Given the description of an element on the screen output the (x, y) to click on. 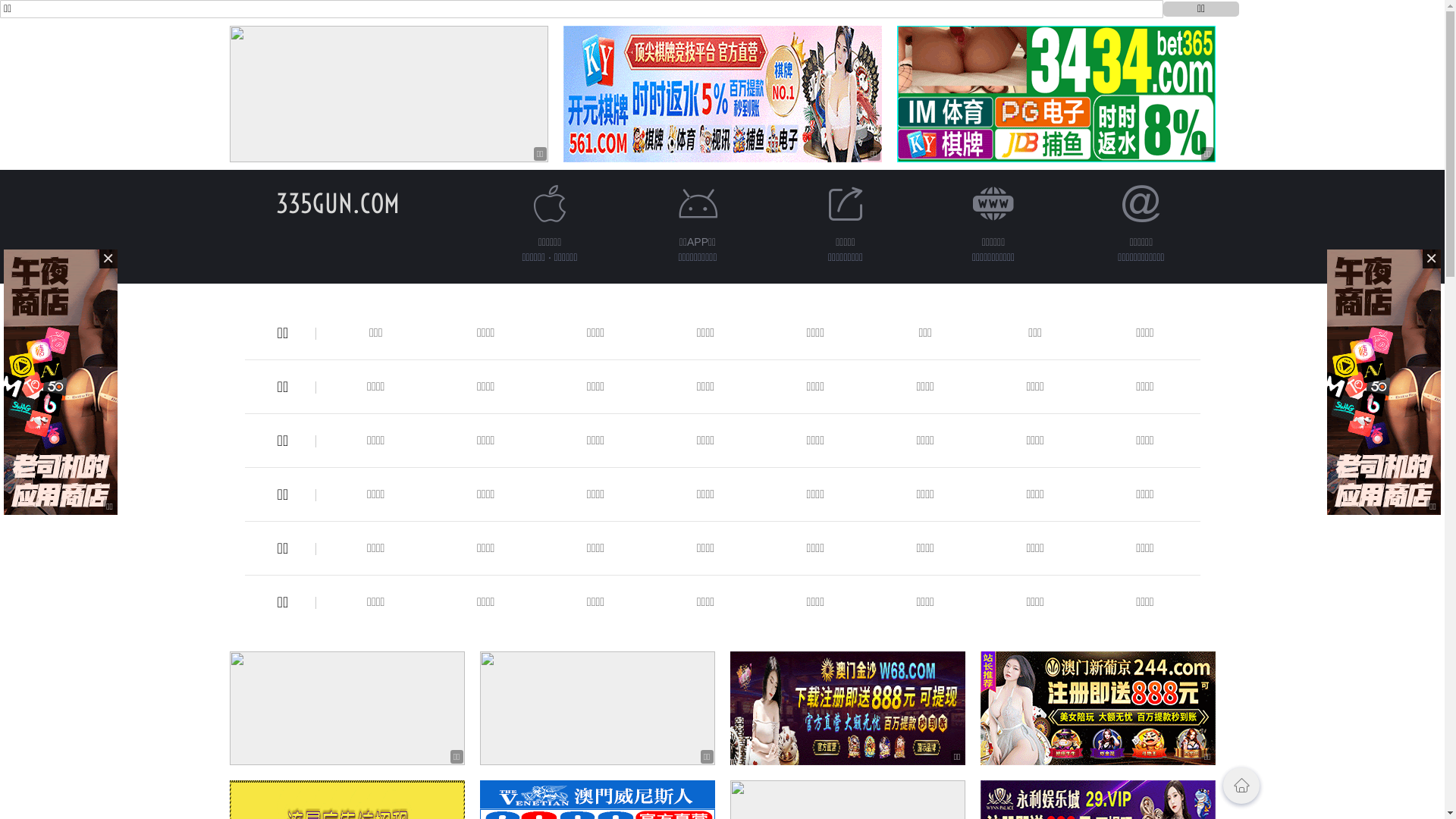
335GUN.COM Element type: text (337, 203)
